Given the description of an element on the screen output the (x, y) to click on. 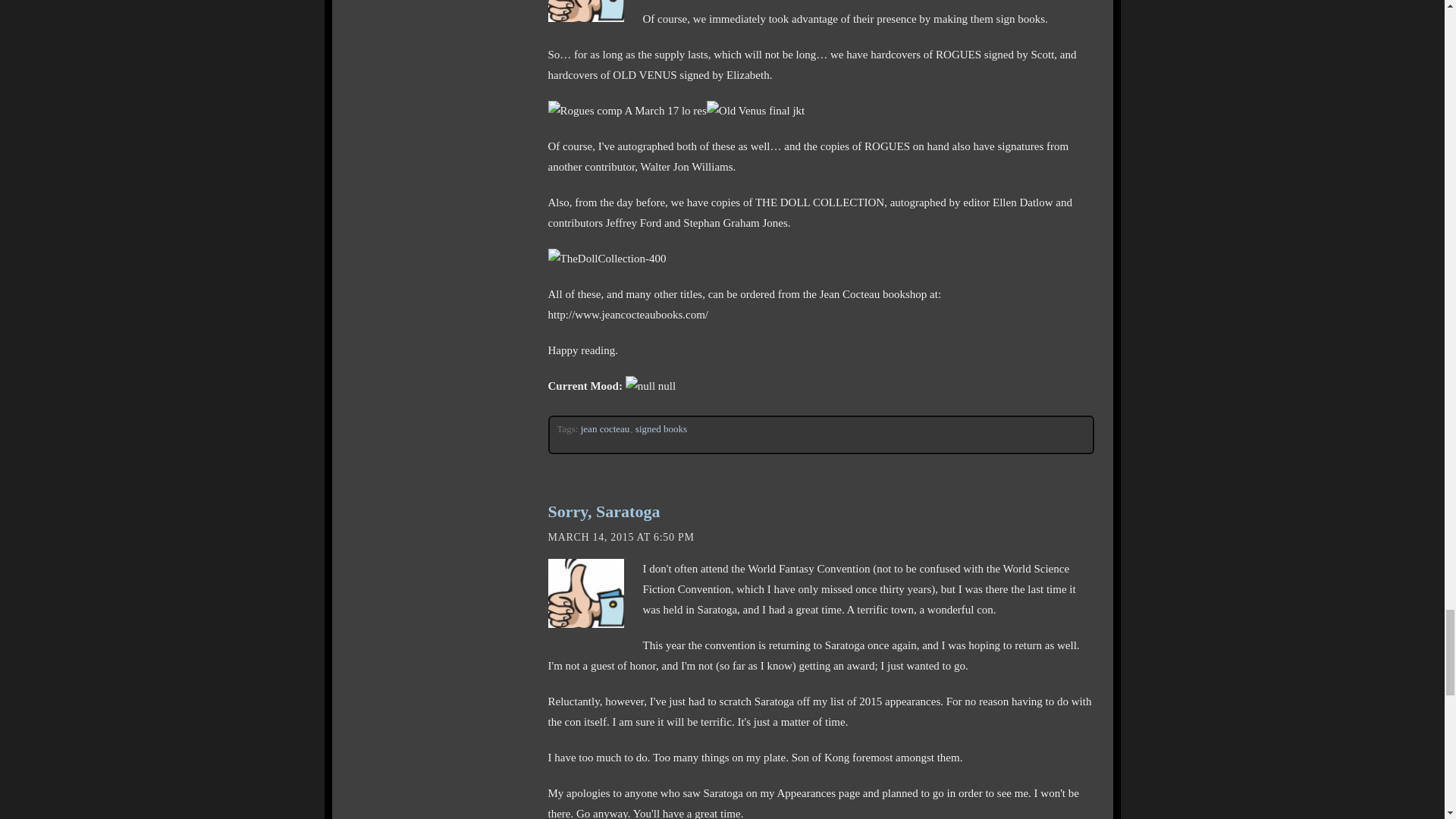
Sorry, Saratoga (603, 511)
TheDollCollection-400 (606, 258)
Rogues comp A March 17 lo res (626, 110)
Old Venus final jkt (755, 110)
jean cocteau (605, 428)
signed books (660, 428)
